Given the description of an element on the screen output the (x, y) to click on. 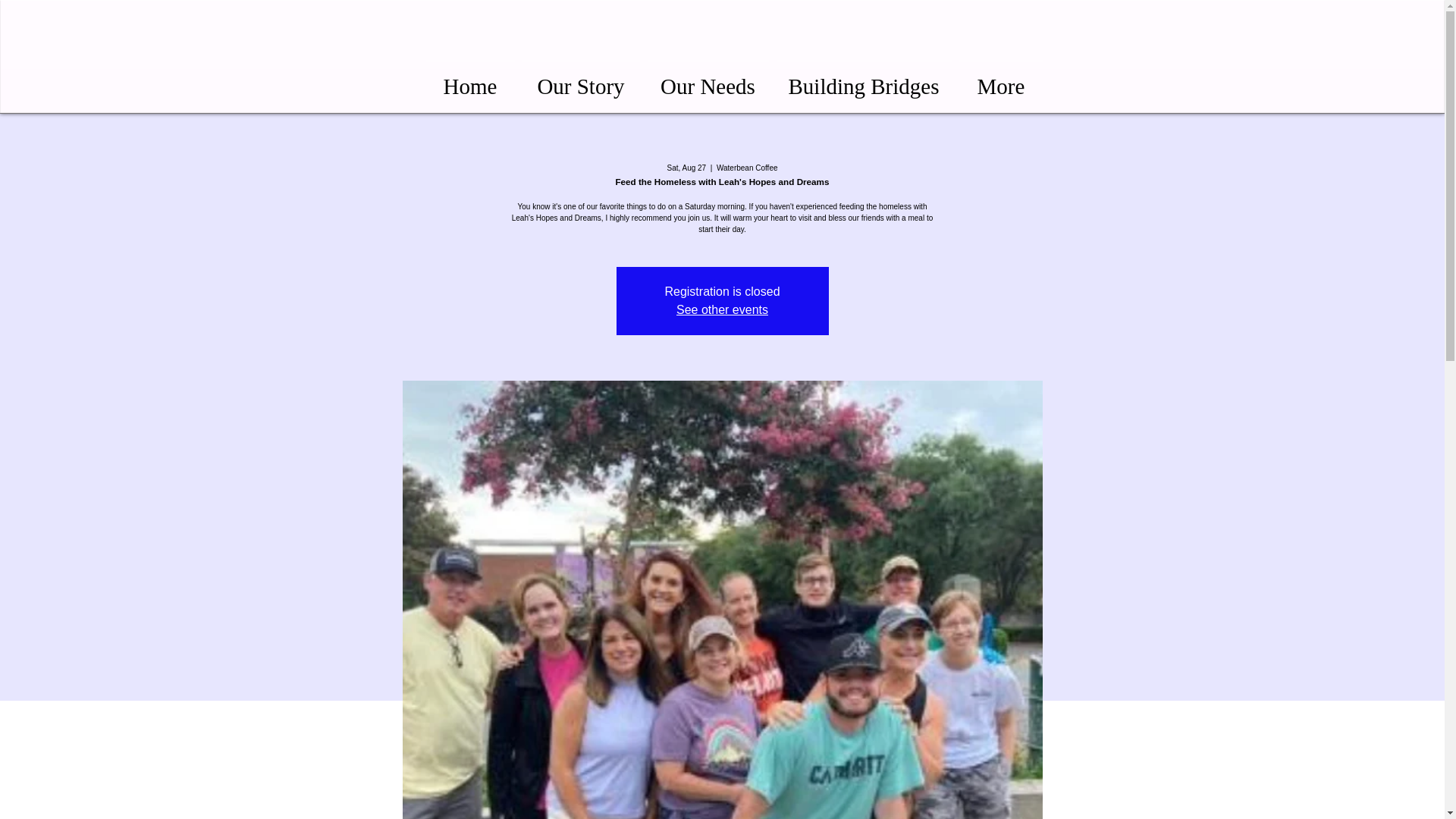
Home (470, 79)
See other events (722, 309)
Our Needs (707, 79)
Our Story (580, 79)
Building Bridges (863, 79)
